Given the description of an element on the screen output the (x, y) to click on. 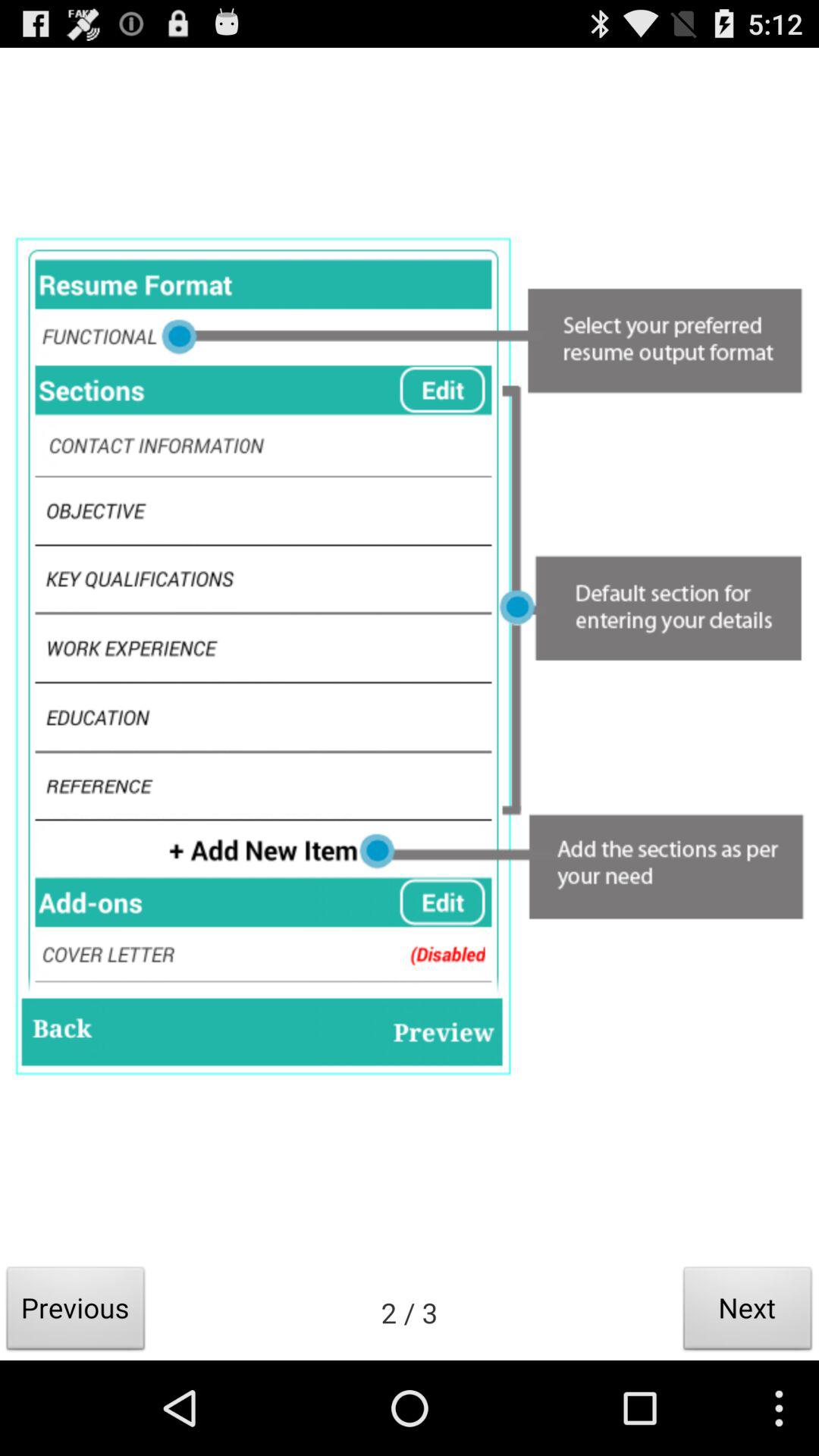
turn off the    next    item (747, 1312)
